Given the description of an element on the screen output the (x, y) to click on. 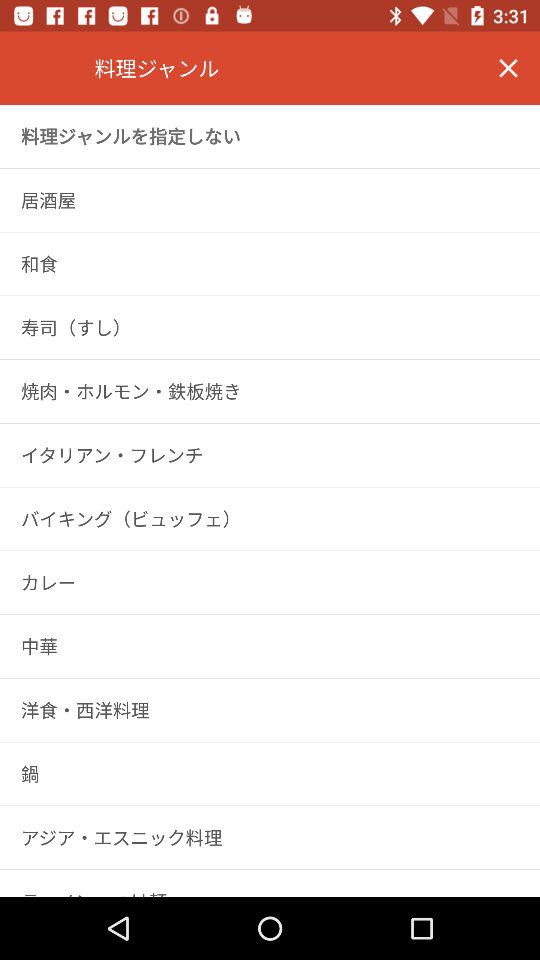
click on cross button at top right (508, 68)
